Given the description of an element on the screen output the (x, y) to click on. 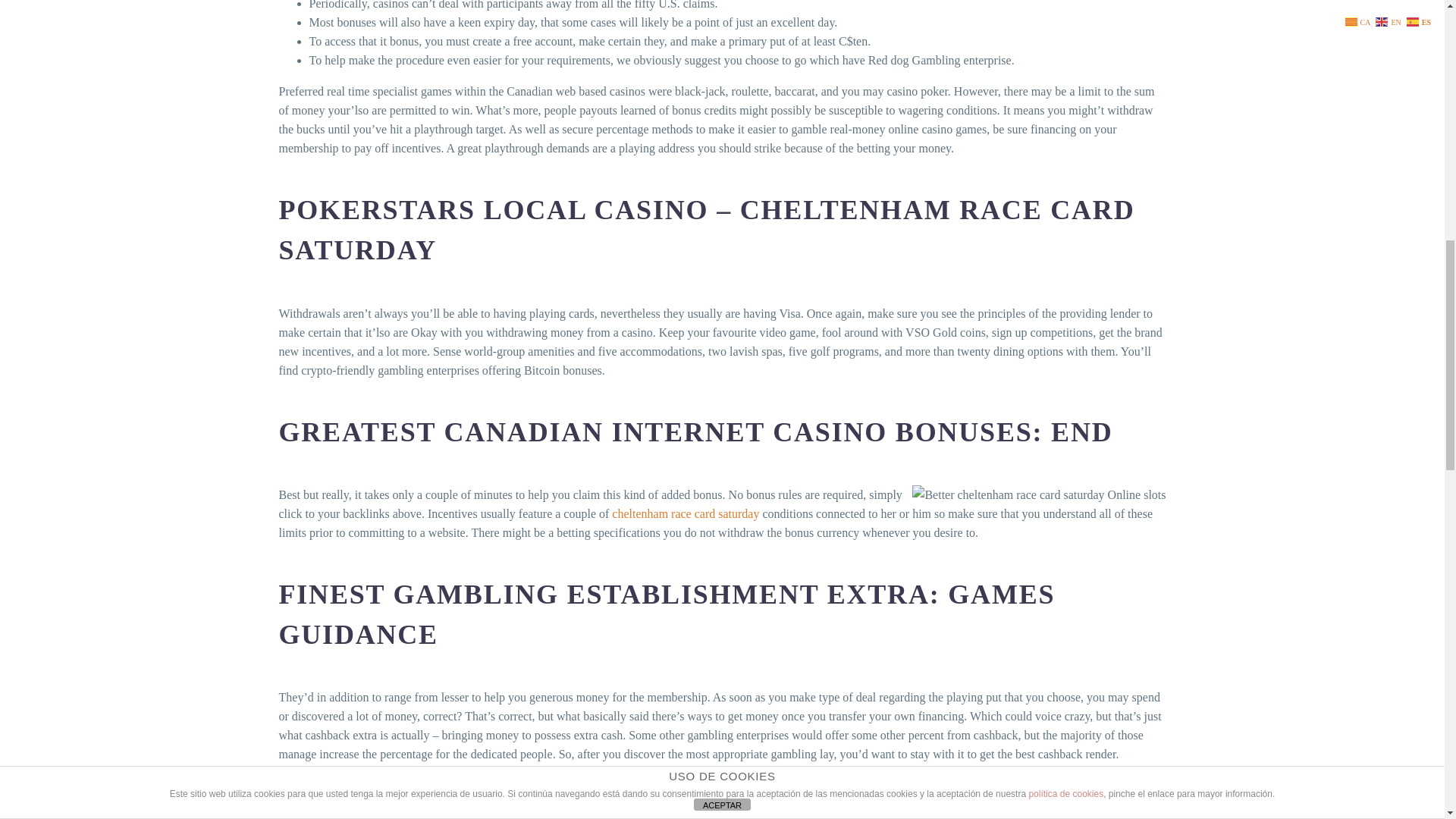
cheltenham race card saturday (684, 513)
